Given the description of an element on the screen output the (x, y) to click on. 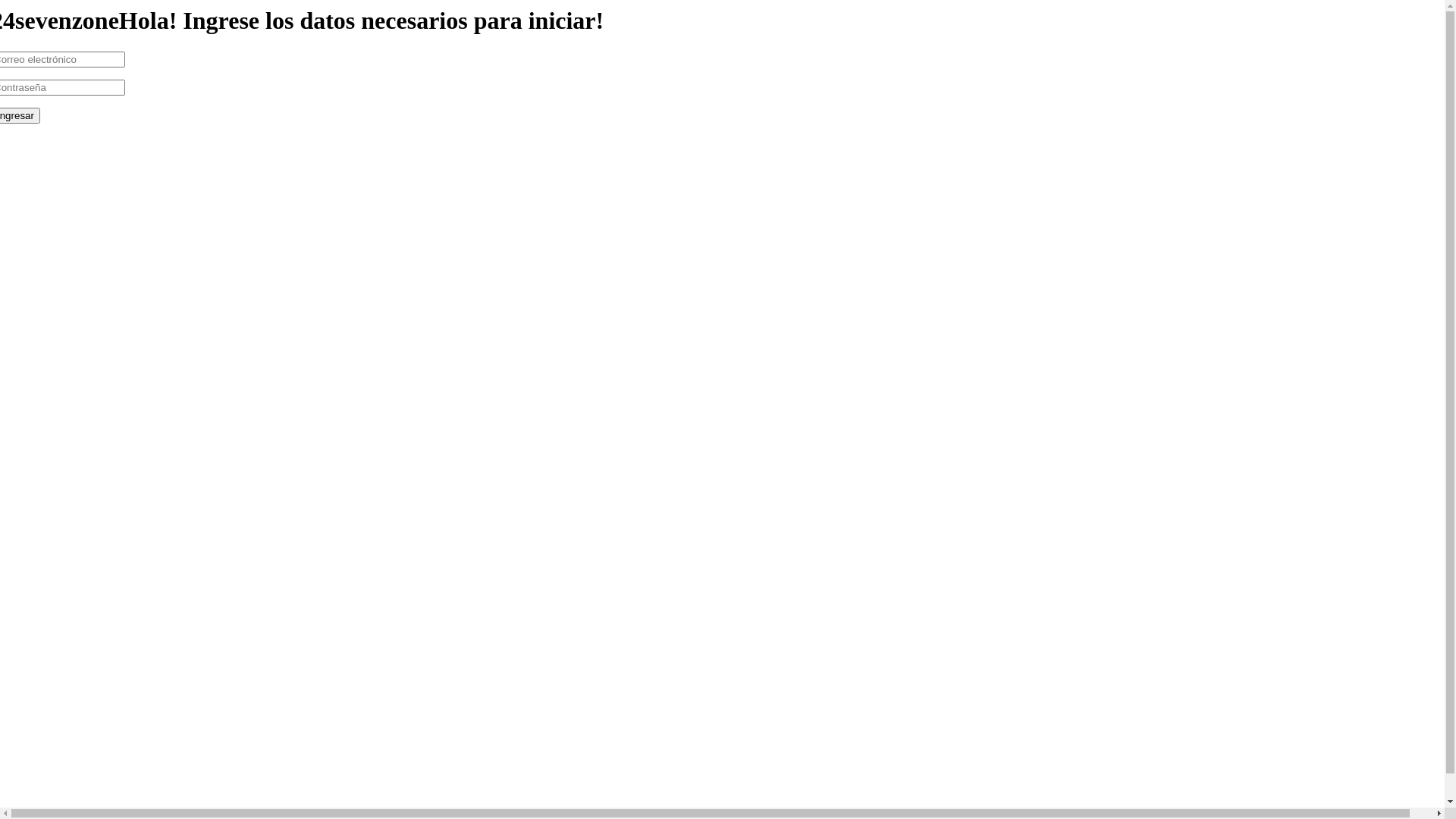
terminos y condiciones Element type: text (216, 142)
